Given the description of an element on the screen output the (x, y) to click on. 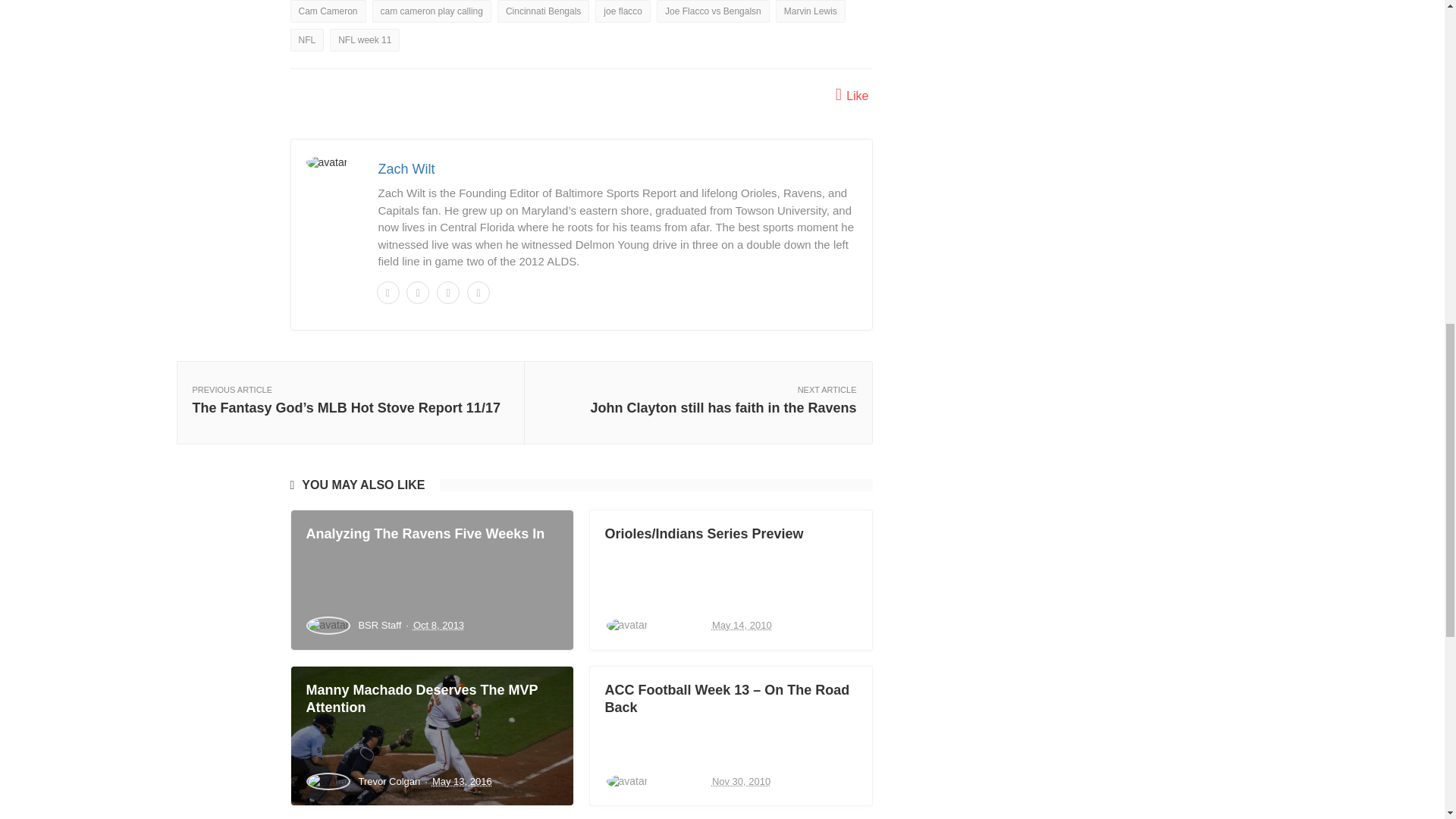
View all posts in Marvin Lewis (810, 11)
View all posts in Joe Flacco vs Bengalsn (713, 11)
View all posts in NFL week 11 (364, 39)
View all posts in NFL (306, 39)
View all posts in cam cameron play calling (432, 11)
View all posts in Cincinnati Bengals (543, 11)
View all posts in joe flacco (622, 11)
View all posts in Cam Cameron (327, 11)
